Given the description of an element on the screen output the (x, y) to click on. 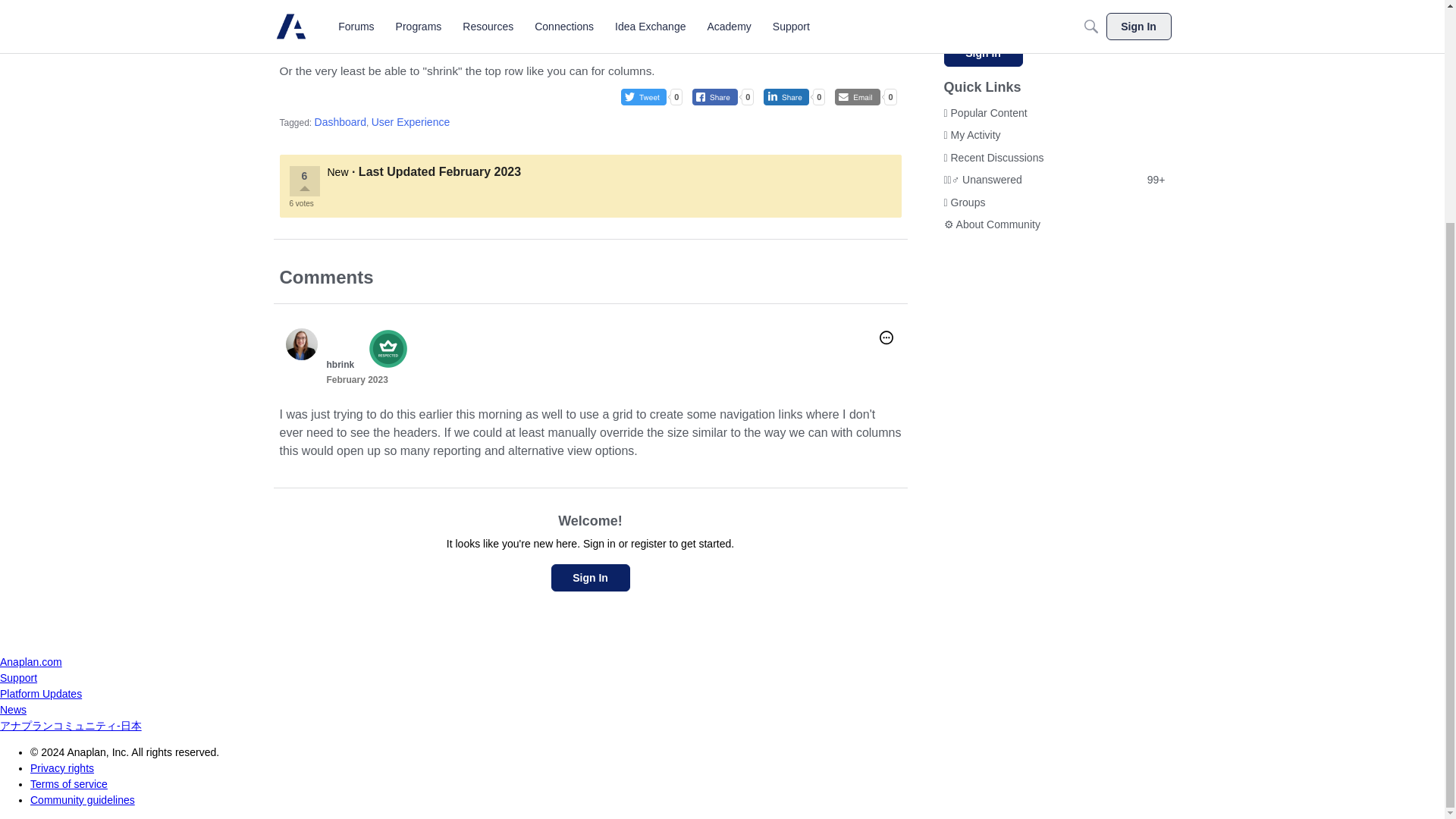
User Experience (410, 121)
February 16, 2023 2:32PM (480, 171)
New (338, 172)
Sign In (589, 577)
Up (303, 189)
Sign In (982, 52)
Dashboard (340, 121)
hbrink (301, 344)
February 2023 (356, 379)
Respected Contributor (383, 336)
Sign In (982, 52)
hbrink (339, 364)
Sign In (589, 577)
February 16, 2023 8:54PM (356, 379)
